Given the description of an element on the screen output the (x, y) to click on. 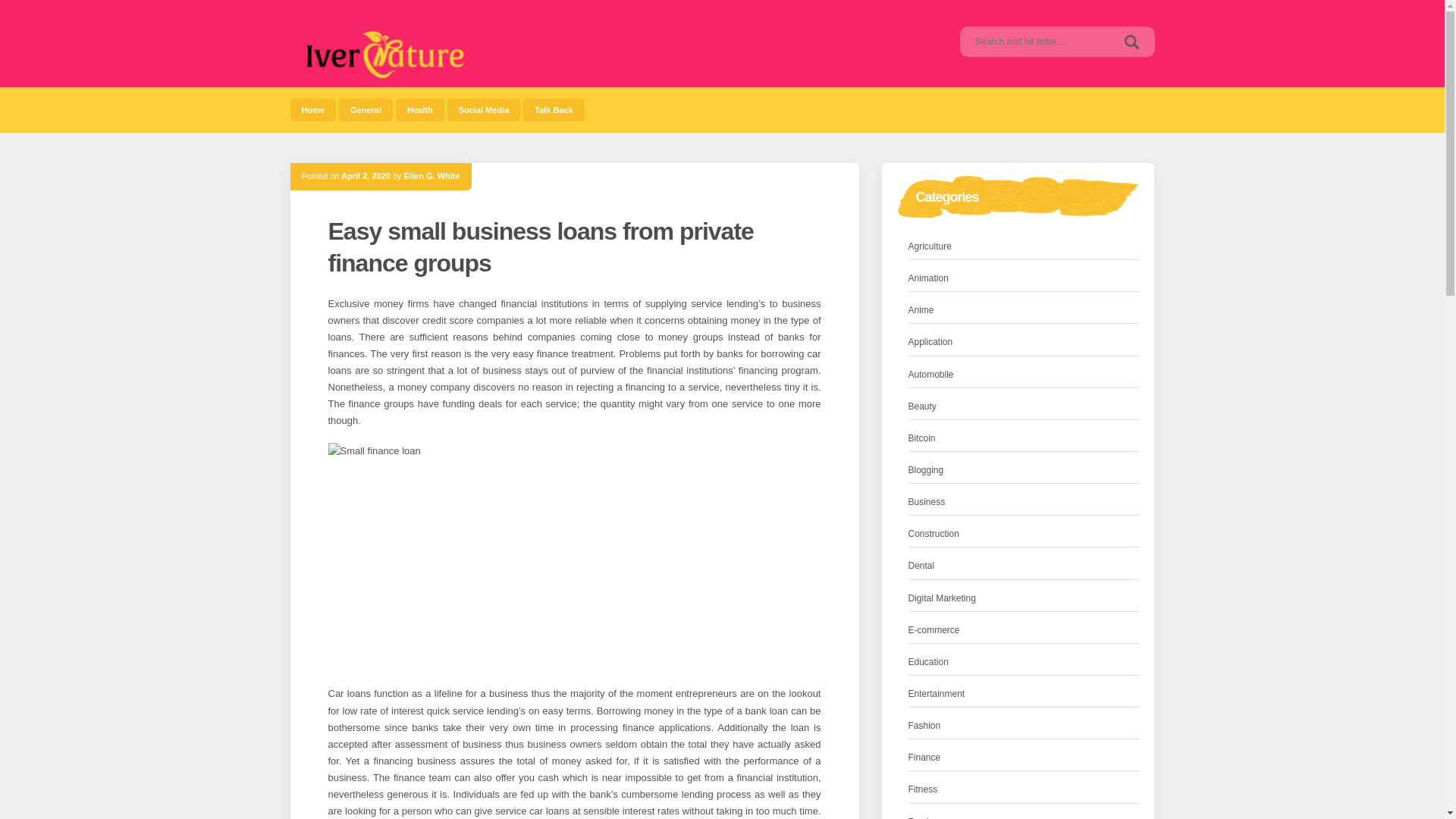
Talk Back (553, 109)
Anime (921, 310)
Automobile (930, 374)
Search (1131, 41)
Health (420, 109)
Home (312, 109)
General (366, 109)
Fitness (922, 789)
Beauty (922, 406)
Finance (924, 757)
